Given the description of an element on the screen output the (x, y) to click on. 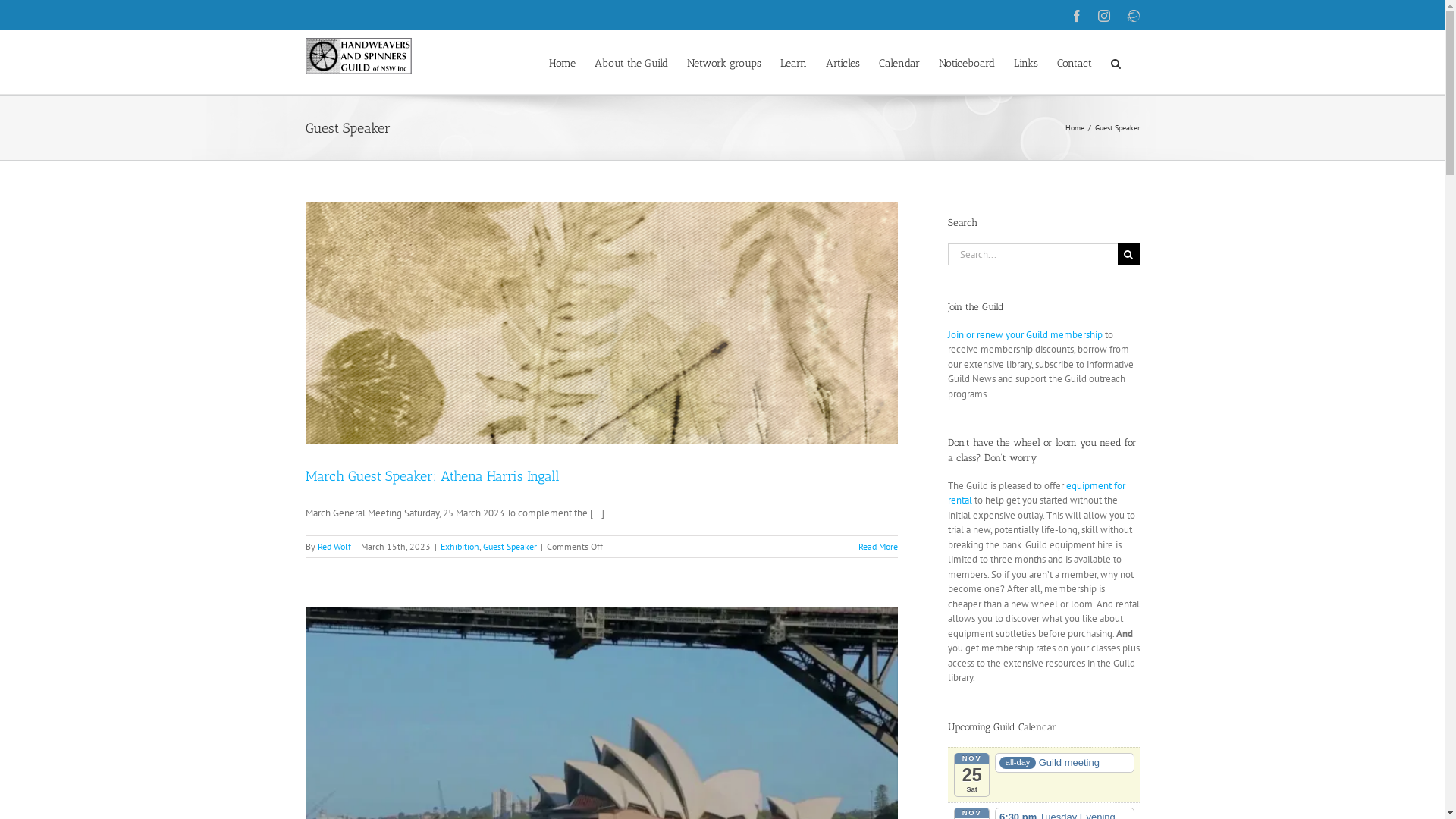
Learn Element type: text (792, 62)
Ravelry Element type: text (1132, 15)
Instagram Element type: text (1104, 15)
Noticeboard Element type: text (966, 62)
Calendar Element type: text (898, 62)
Links Element type: text (1025, 62)
Red Wolf Element type: text (333, 546)
Read More Element type: text (877, 546)
all-day Guild meeting Element type: text (1064, 762)
Contact Element type: text (1074, 62)
Guest Speaker Element type: text (509, 546)
Search Element type: hover (1115, 62)
About the Guild Element type: text (631, 62)
Home Element type: text (1073, 127)
Network groups Element type: text (724, 62)
Articles Element type: text (842, 62)
Exhibition Element type: text (458, 546)
March Guest Speaker: Athena Harris Ingall Element type: text (431, 475)
Home Element type: text (562, 62)
Facebook Element type: text (1076, 15)
NOV
25
Sat Element type: text (971, 775)
equipment for rental Element type: text (1036, 493)
Join or renew your Guild membership Element type: text (1024, 334)
